Given the description of an element on the screen output the (x, y) to click on. 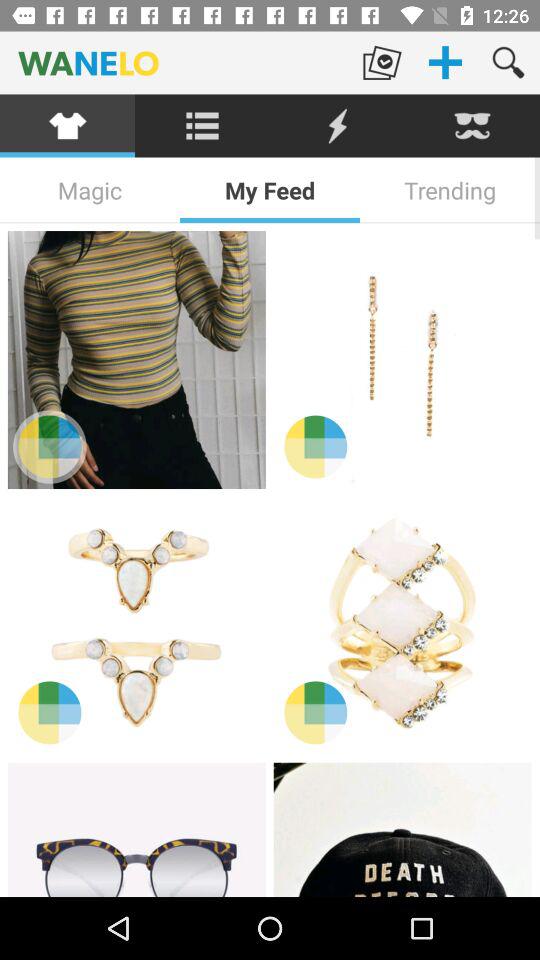
more information about the product (49, 446)
